Given the description of an element on the screen output the (x, y) to click on. 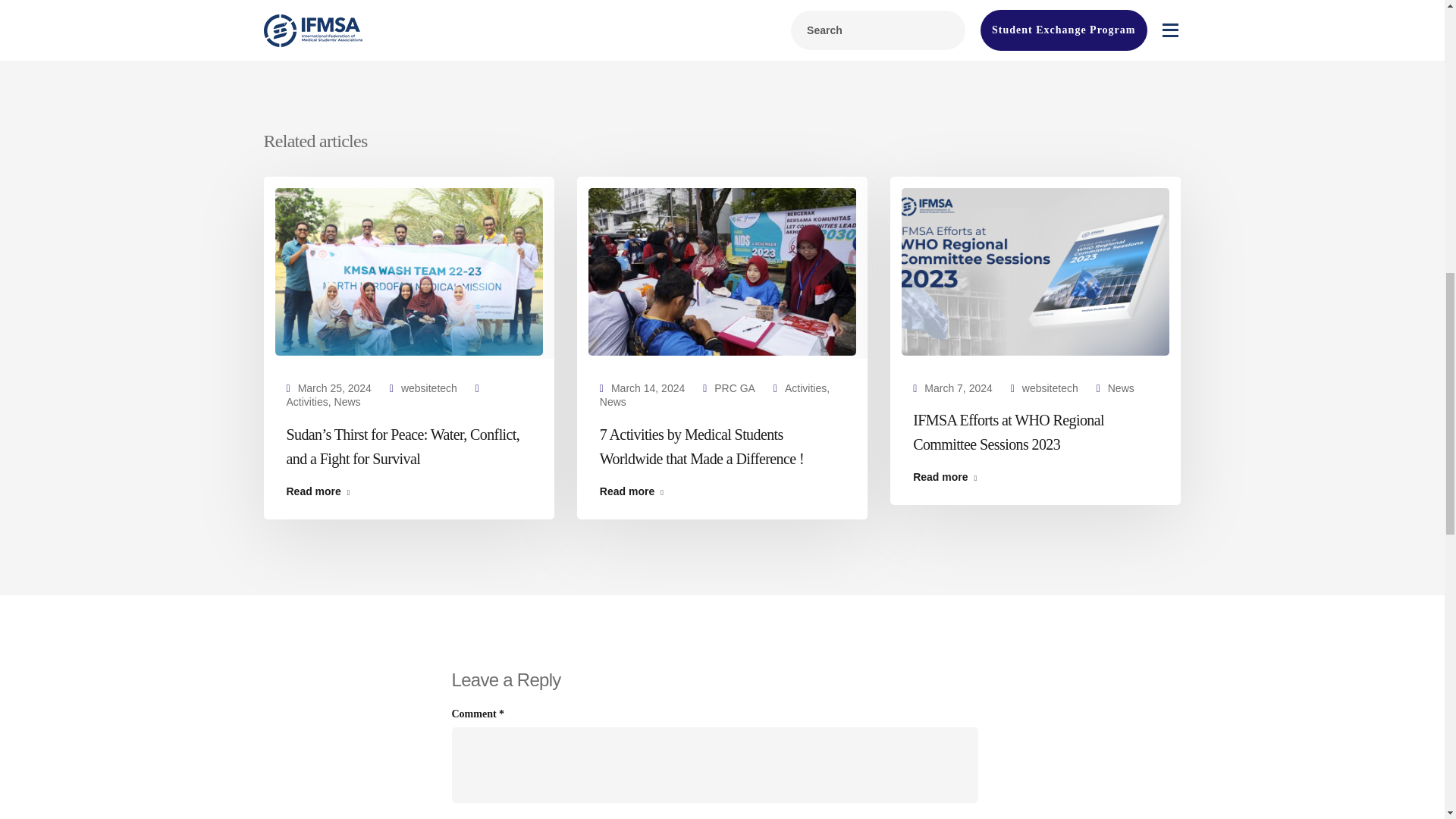
News (612, 401)
Read more (408, 491)
Posts by websitetech (429, 387)
websitetech (429, 387)
Activities (805, 387)
Posts by websitetech (1050, 387)
Posts by PRC GA (734, 387)
IFMSA Efforts at WHO Regional Committee Sessions 2023 (1035, 270)
News (347, 401)
Activities (307, 401)
PRC GA (734, 387)
